Given the description of an element on the screen output the (x, y) to click on. 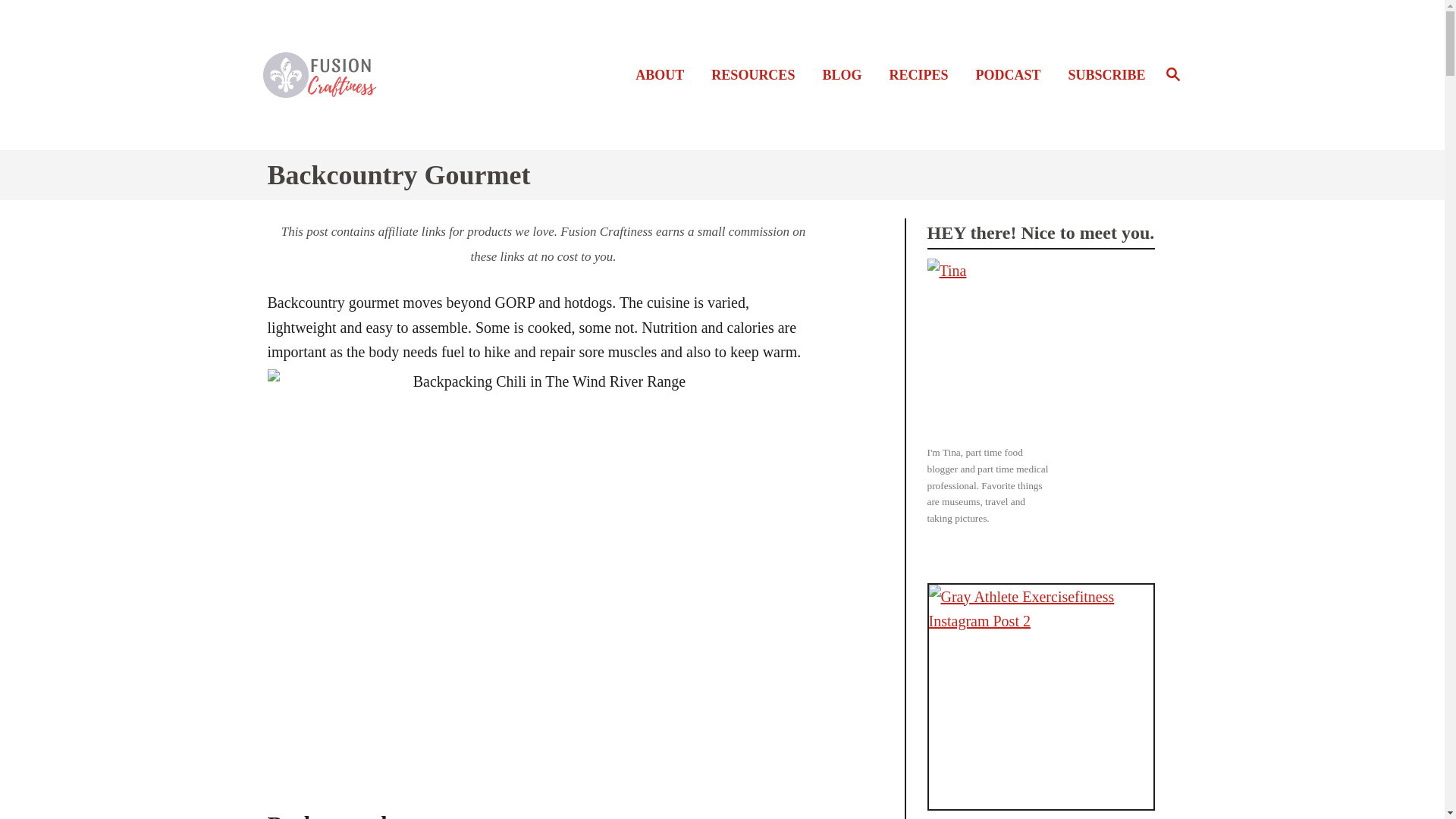
RESOURCES (756, 75)
RECIPES (922, 75)
SUBSCRIBE (1101, 75)
Magnifying Glass (1171, 74)
PODCAST (1012, 75)
BLOG (1171, 75)
fusion craftiness (845, 75)
ABOUT (371, 74)
